Given the description of an element on the screen output the (x, y) to click on. 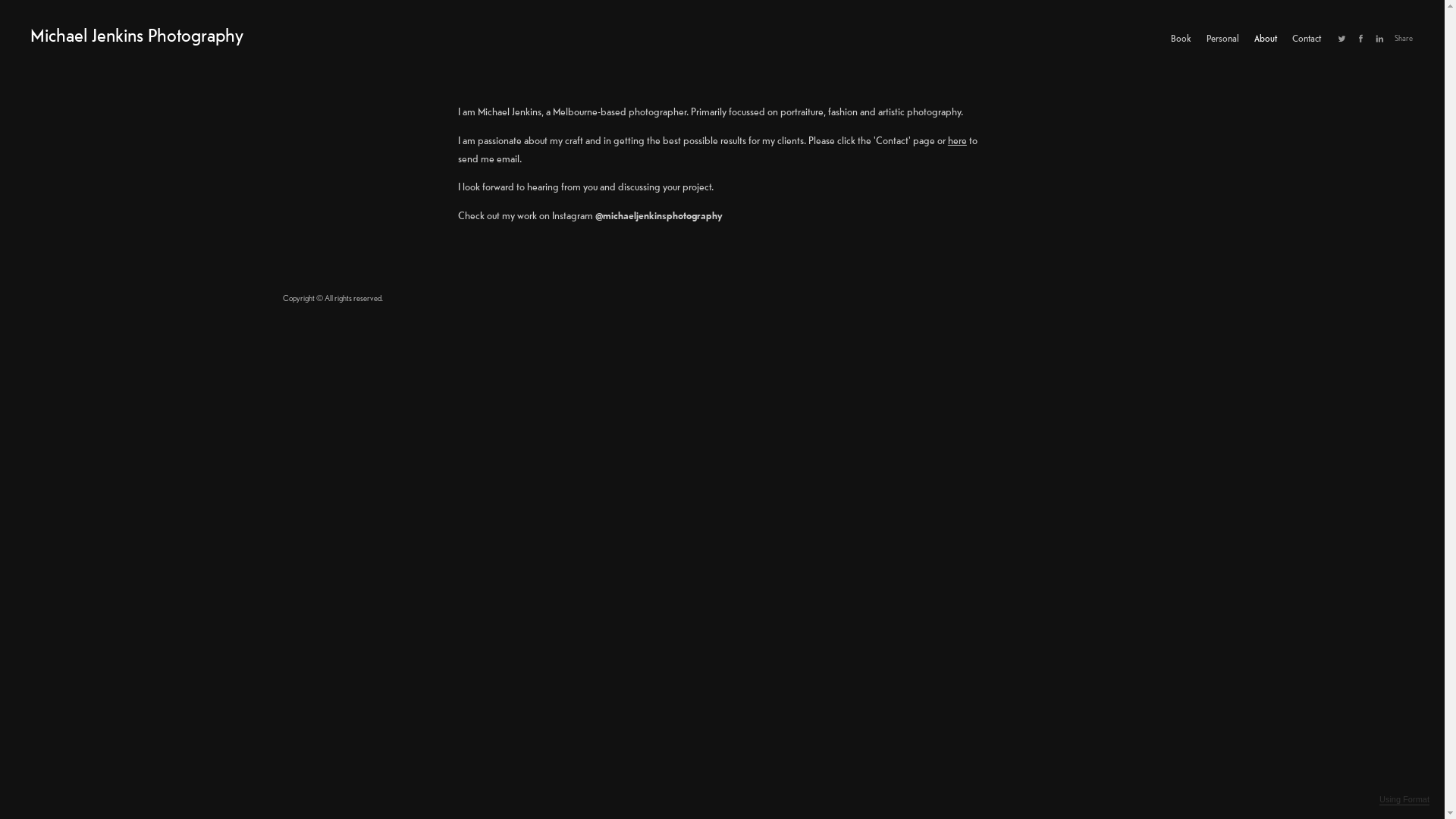
Personal Element type: text (1222, 38)
LinkedIn Element type: hover (1379, 37)
Twitter Element type: hover (1341, 37)
About Element type: text (1265, 38)
Share Element type: text (1403, 37)
Contact Element type: text (1306, 38)
here Element type: text (956, 140)
Book Element type: text (1180, 38)
Facebook Element type: hover (1360, 37)
Using Format Element type: text (1404, 799)
Michael Jenkins Photography Element type: text (136, 34)
